Given the description of an element on the screen output the (x, y) to click on. 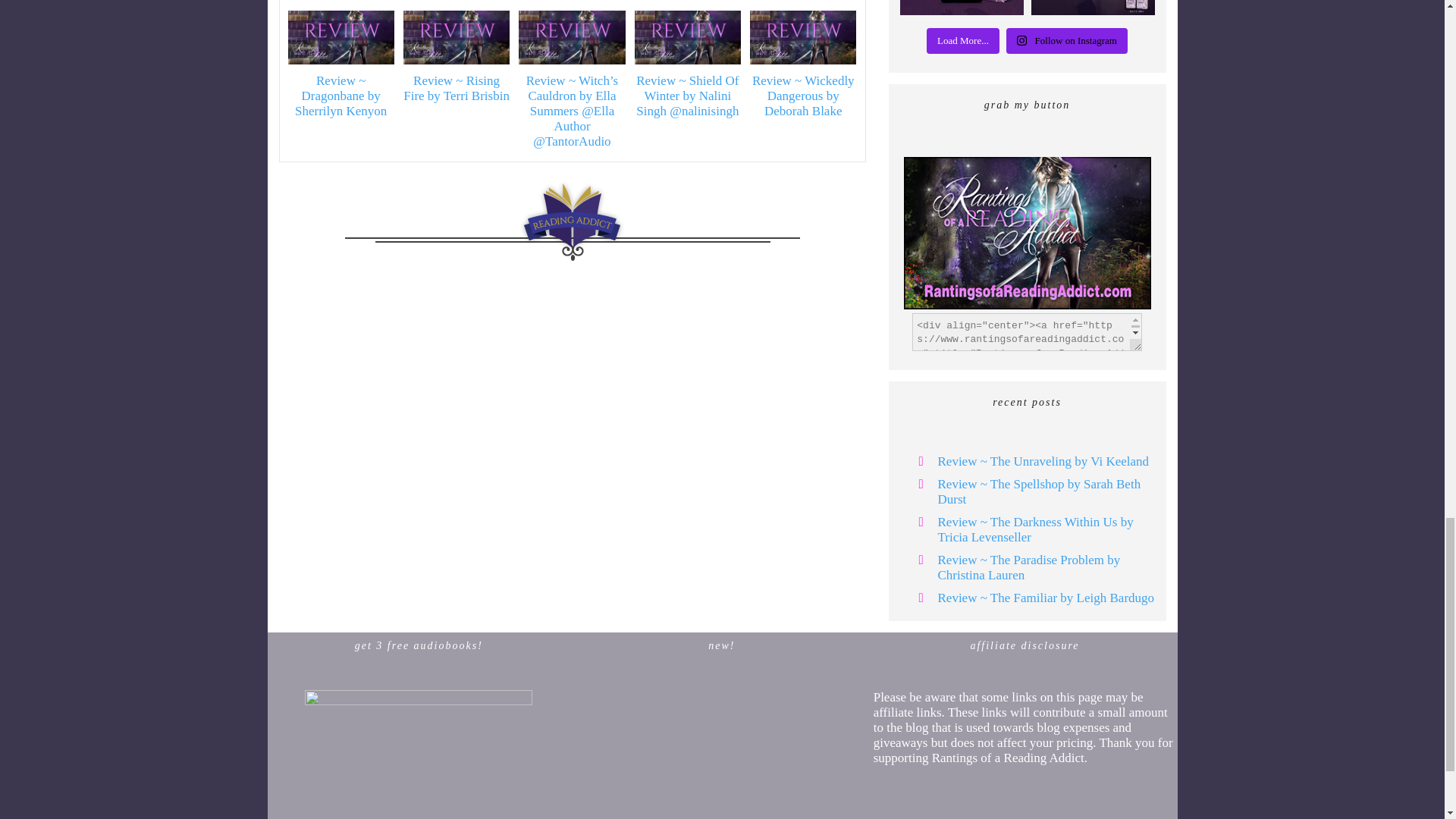
Rantings of a Reading Addict (1027, 232)
